Given the description of an element on the screen output the (x, y) to click on. 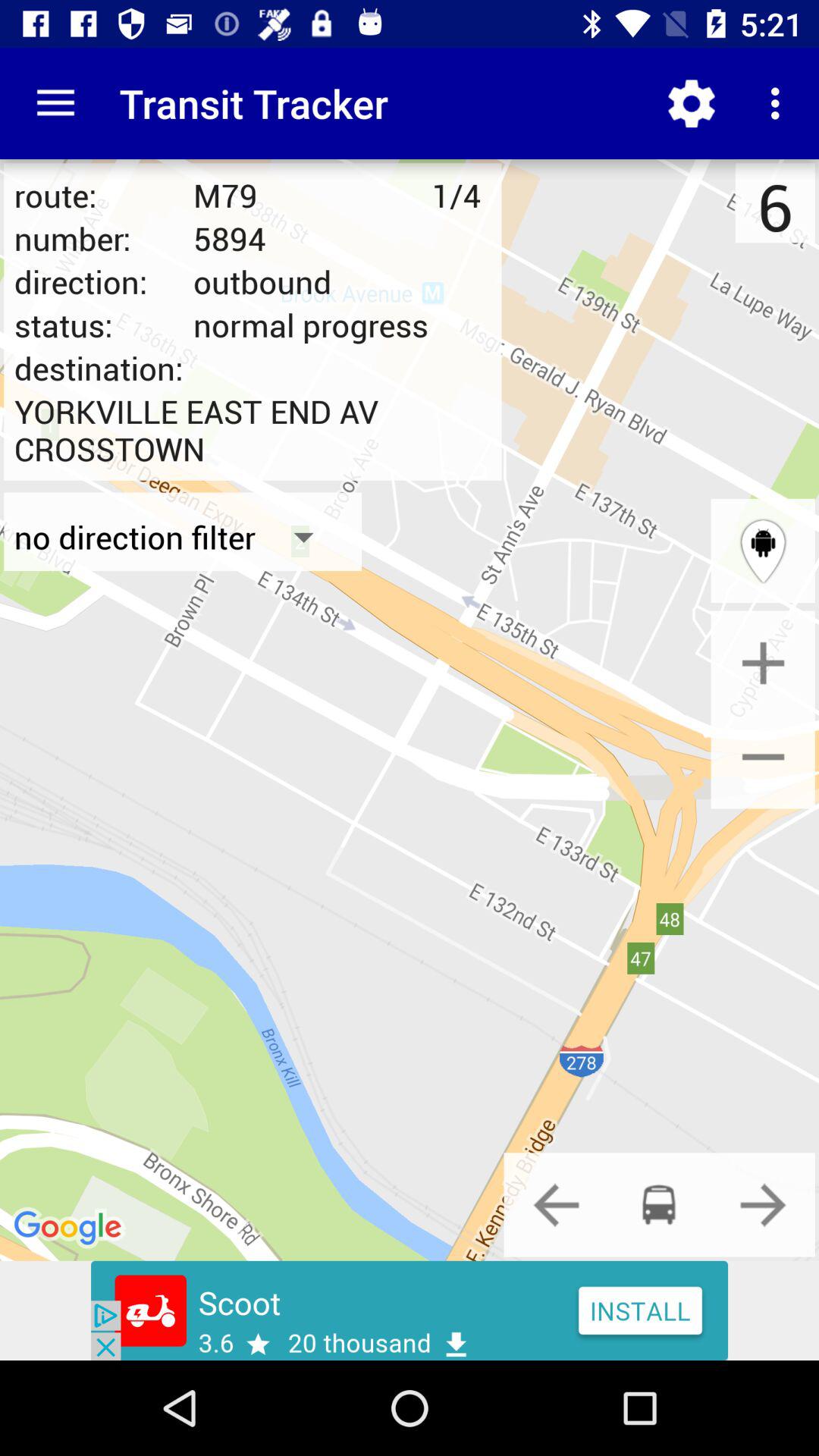
scoot app advertisement banner (409, 1310)
